Given the description of an element on the screen output the (x, y) to click on. 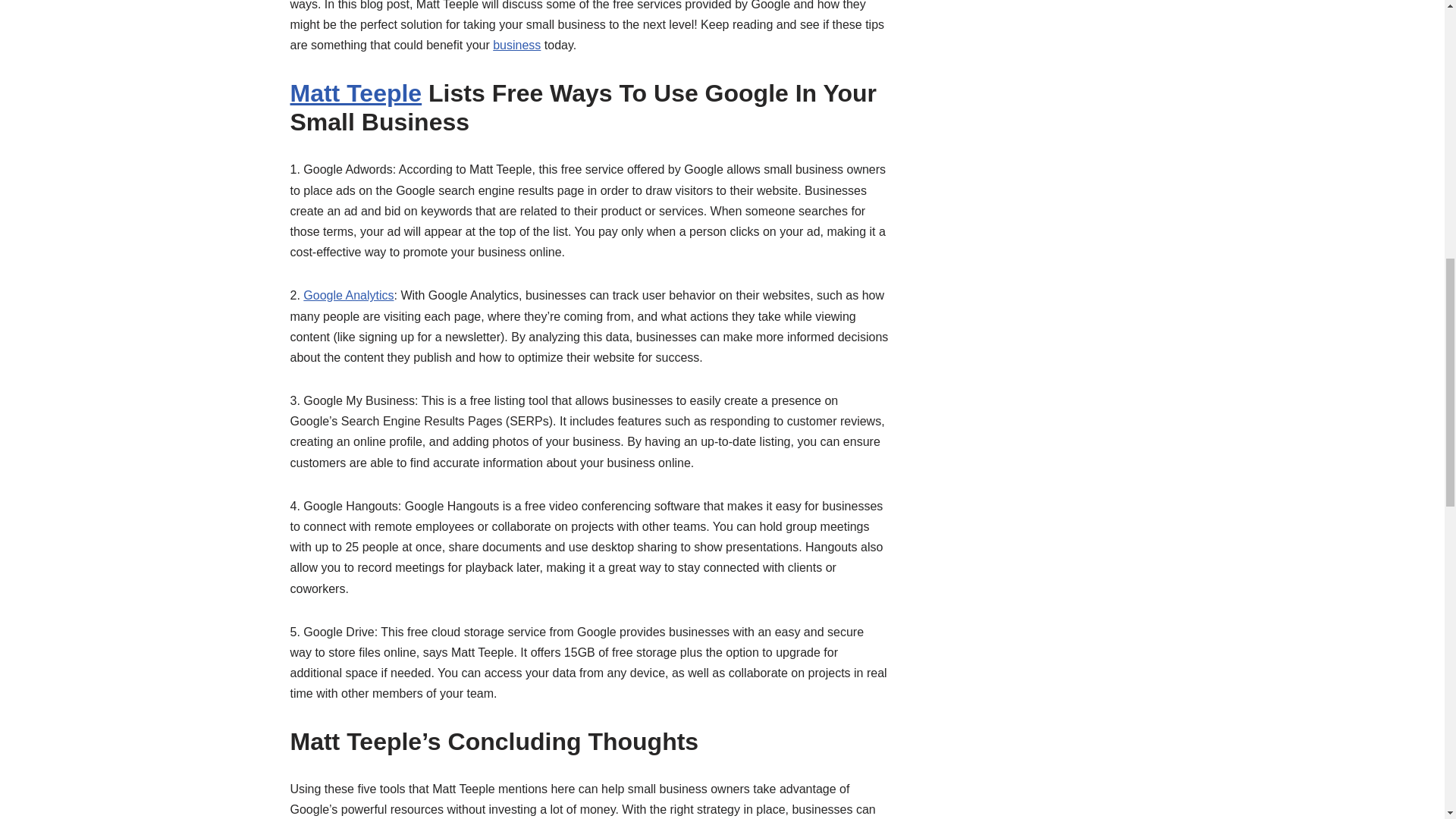
Matt Teeple (355, 93)
Google Analytics (347, 295)
business (516, 44)
